Given the description of an element on the screen output the (x, y) to click on. 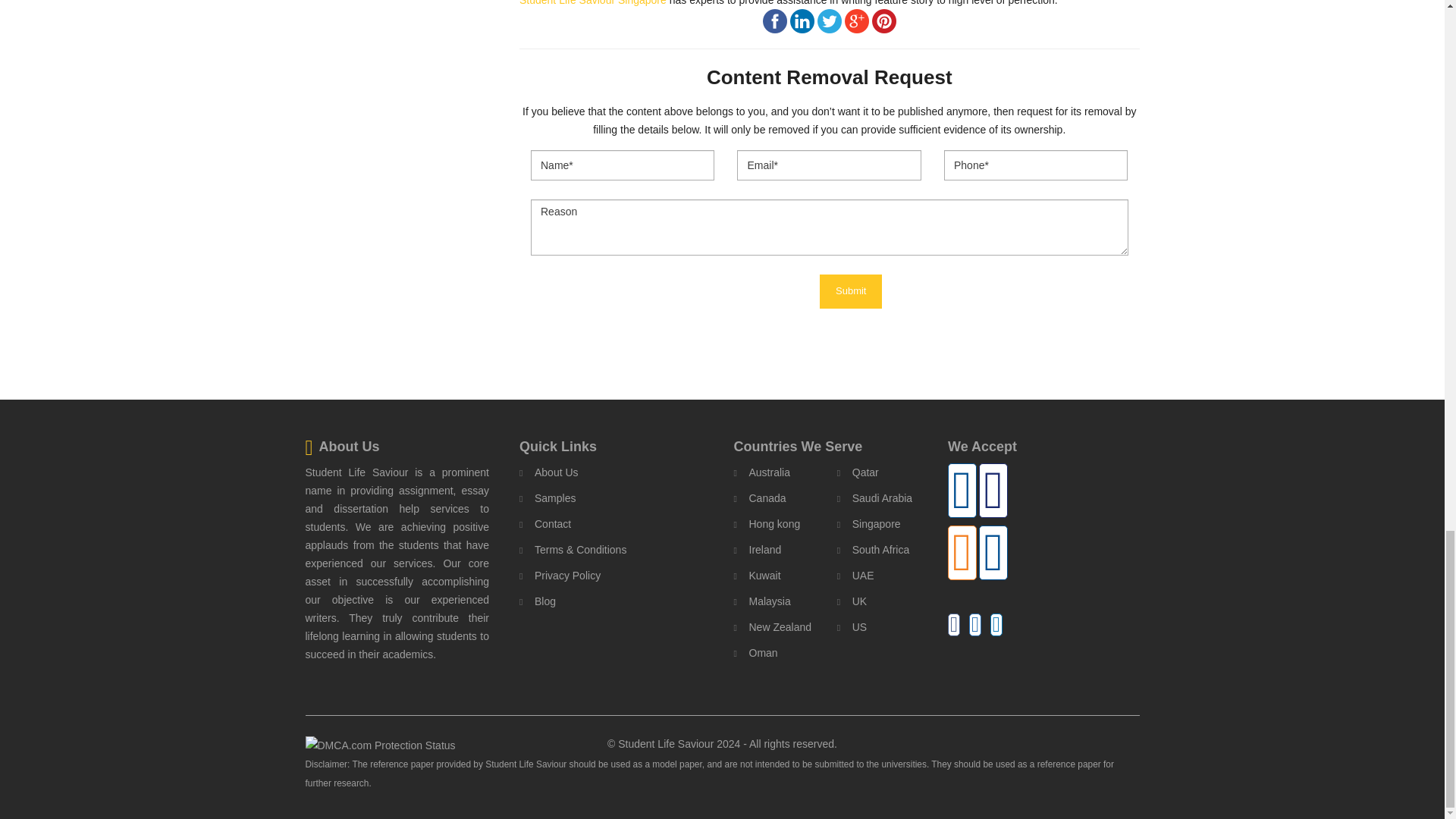
Samples (547, 497)
Submit (850, 291)
About Us (548, 472)
Privacy Policy (559, 575)
Student Life Saviour Singapore (592, 2)
Submit (850, 291)
Contact (544, 524)
DMCA.com Protection Status (379, 743)
Blog (537, 601)
